Given the description of an element on the screen output the (x, y) to click on. 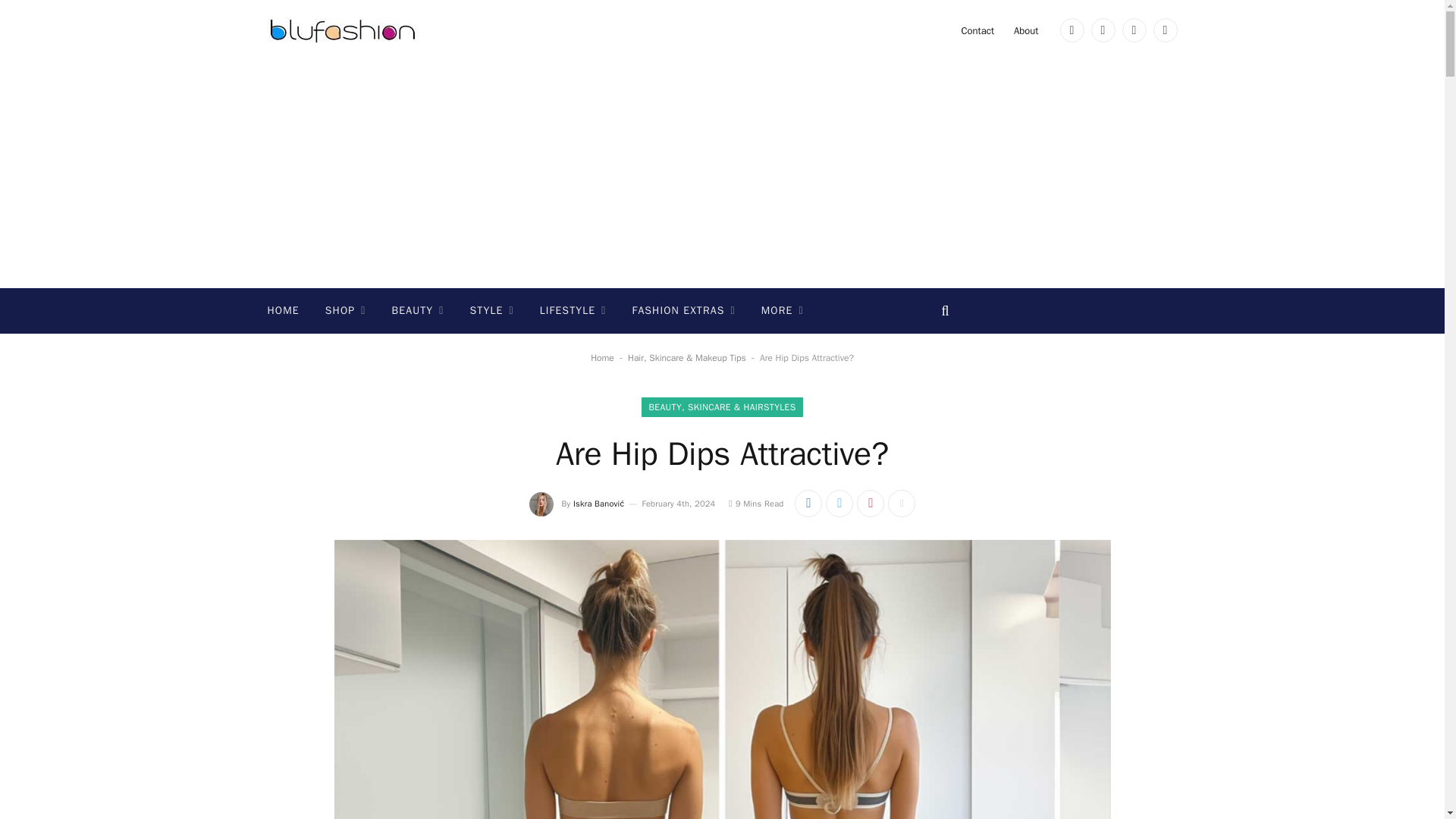
Blufashion.com (342, 30)
Share on Facebook (808, 502)
Share on Pinterest (870, 502)
Show More Social Sharing (901, 502)
